Given the description of an element on the screen output the (x, y) to click on. 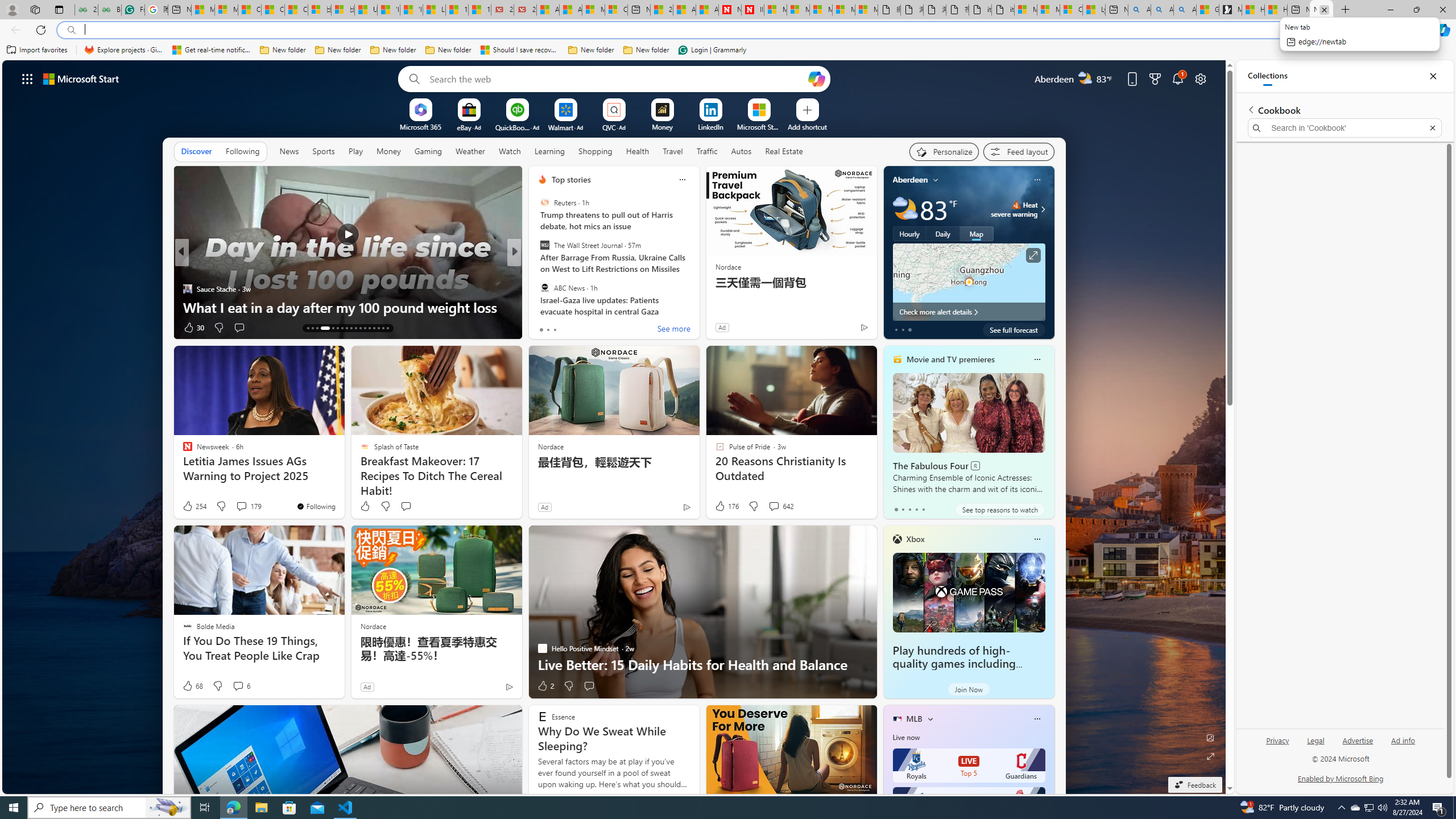
HuffPost (537, 270)
tab-0 (895, 509)
Aberdeen (910, 179)
Best SSL Certificates Provider in India - GeeksforGeeks (109, 9)
tab-2 (908, 509)
View comments 642 Comment (773, 505)
AutomationID: tab-14 (312, 328)
Play (354, 151)
Join Now (968, 689)
Exit search (1432, 127)
AutomationID: tab-28 (382, 328)
View comments 9 Comment (592, 327)
